Given the description of an element on the screen output the (x, y) to click on. 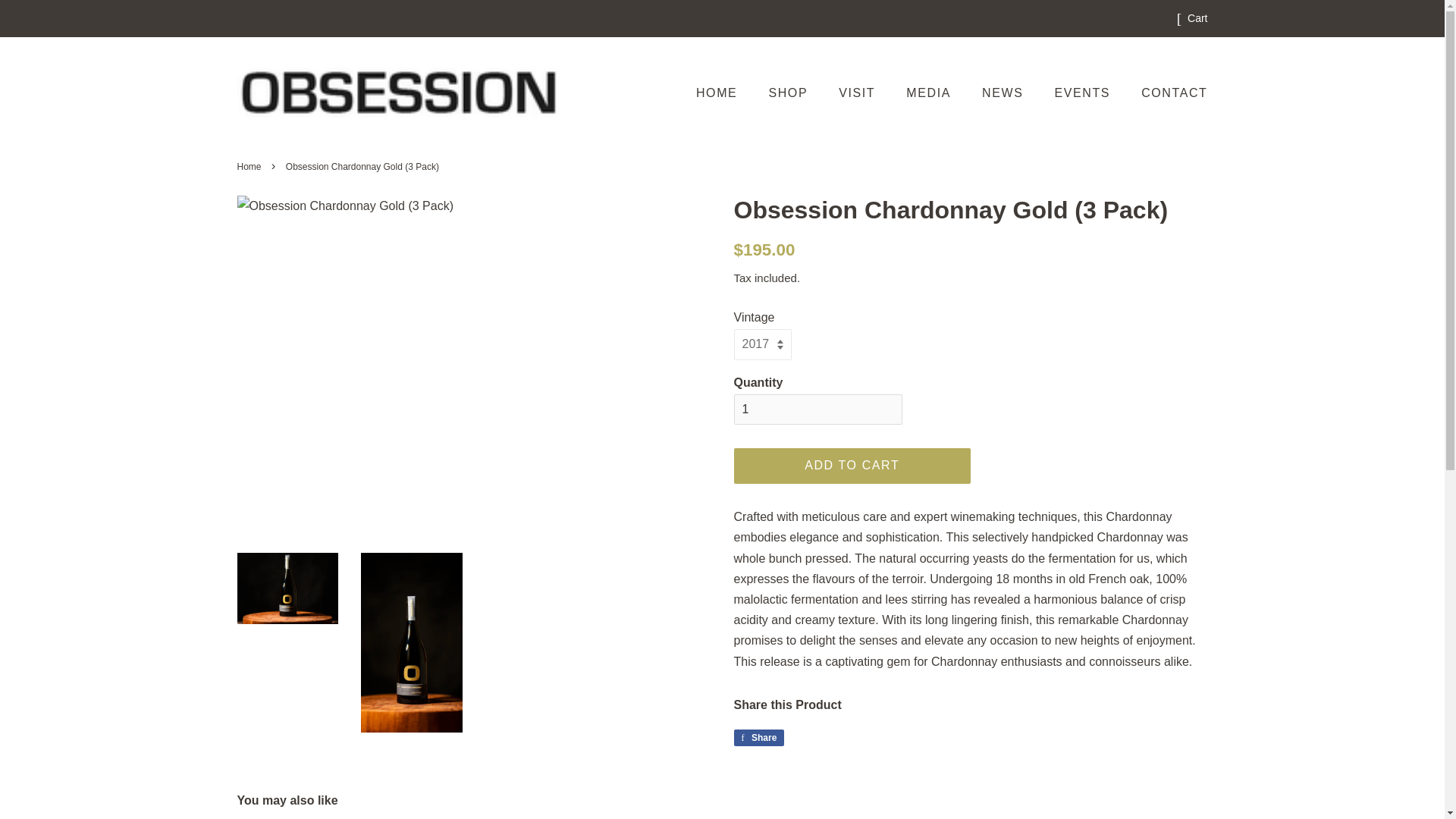
1 (817, 409)
Back to the frontpage (249, 166)
Home (249, 166)
Share on Facebook (758, 737)
EVENTS (1083, 92)
Cart (1197, 18)
MEDIA (930, 92)
CONTACT (1168, 92)
VISIT (858, 92)
